Given the description of an element on the screen output the (x, y) to click on. 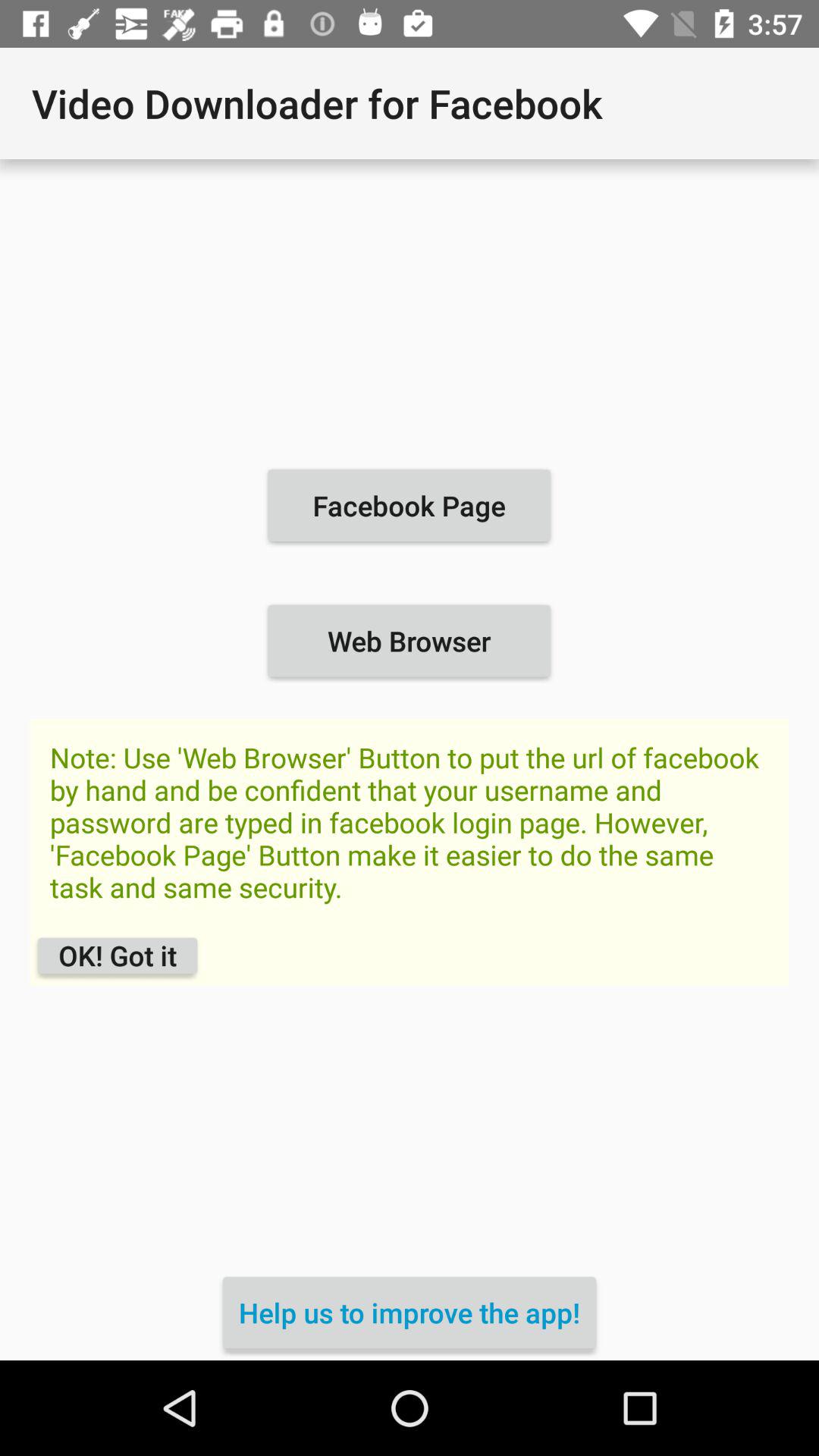
flip until help us to icon (409, 1312)
